Given the description of an element on the screen output the (x, y) to click on. 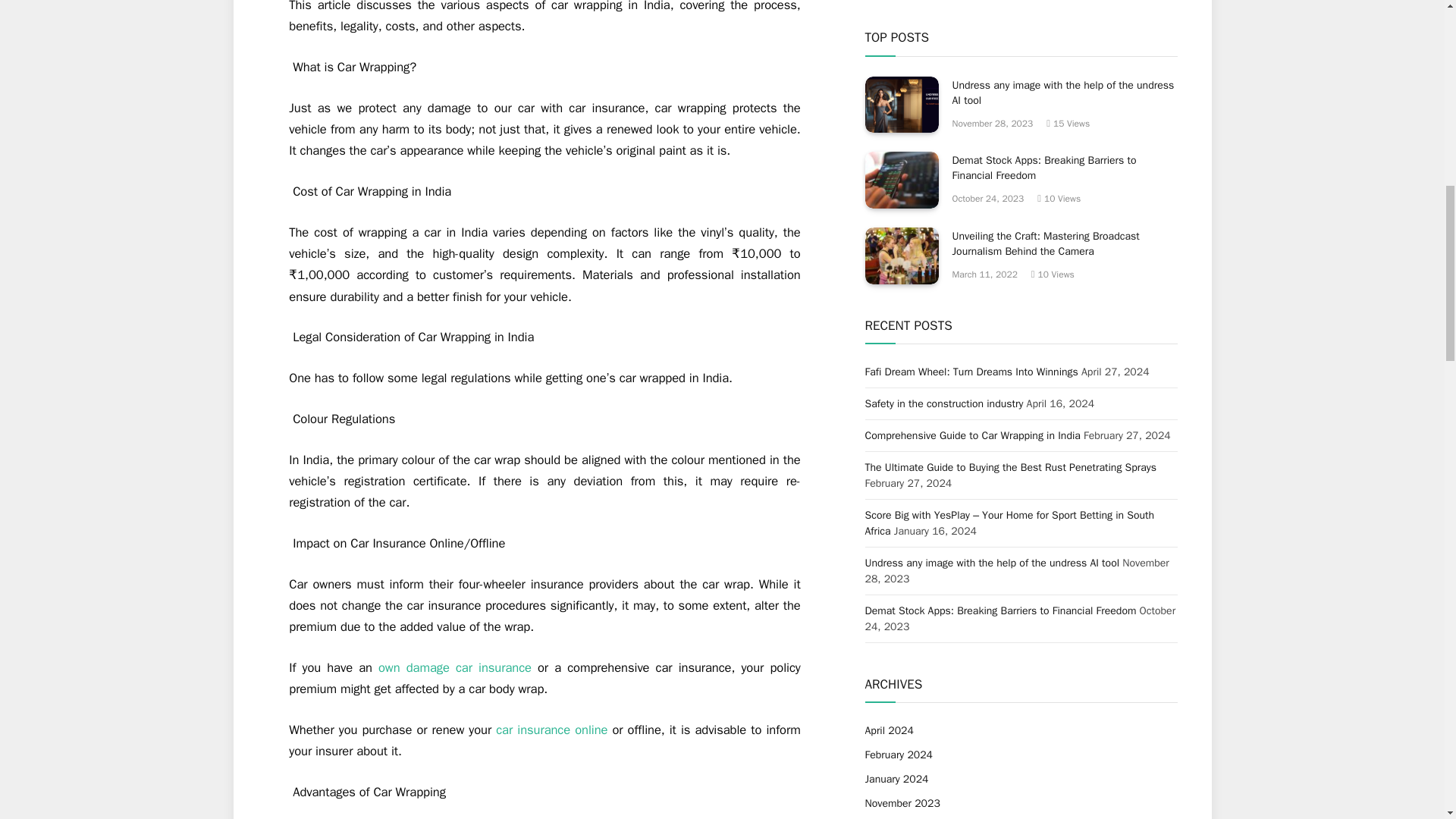
Search (1146, 659)
Search (1146, 659)
